Given the description of an element on the screen output the (x, y) to click on. 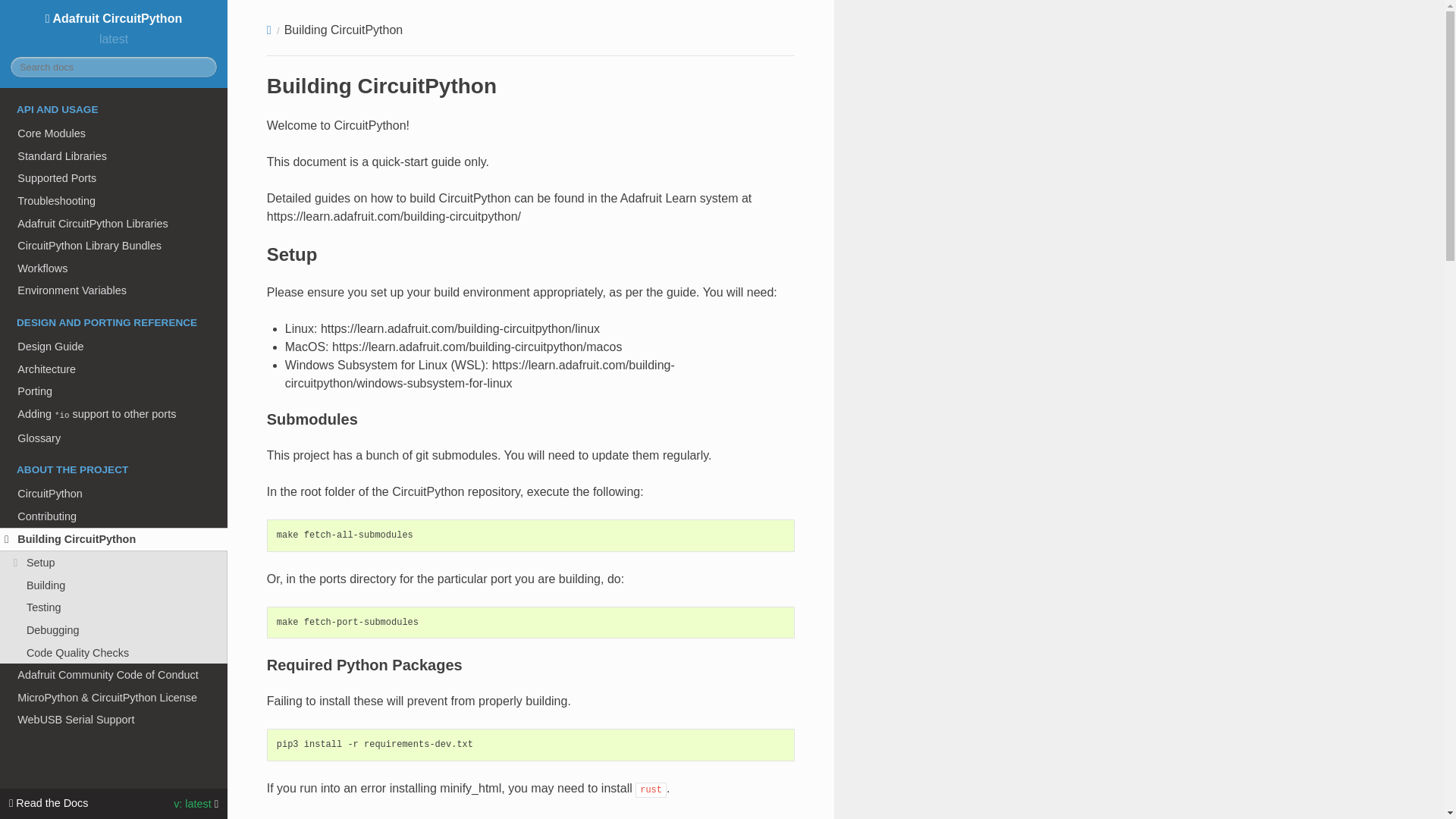
Setup (113, 562)
Standard Libraries (113, 155)
Code Quality Checks (113, 652)
Building CircuitPython (113, 539)
Environment Variables (113, 291)
Troubleshooting (113, 200)
Testing (113, 607)
CircuitPython Library Bundles (113, 245)
Porting (113, 391)
Adafruit CircuitPython Libraries (113, 223)
Adafruit CircuitPython (113, 18)
Design Guide (113, 345)
Contributing (113, 516)
Debugging (113, 630)
Adafruit Community Code of Conduct (113, 674)
